Given the description of an element on the screen output the (x, y) to click on. 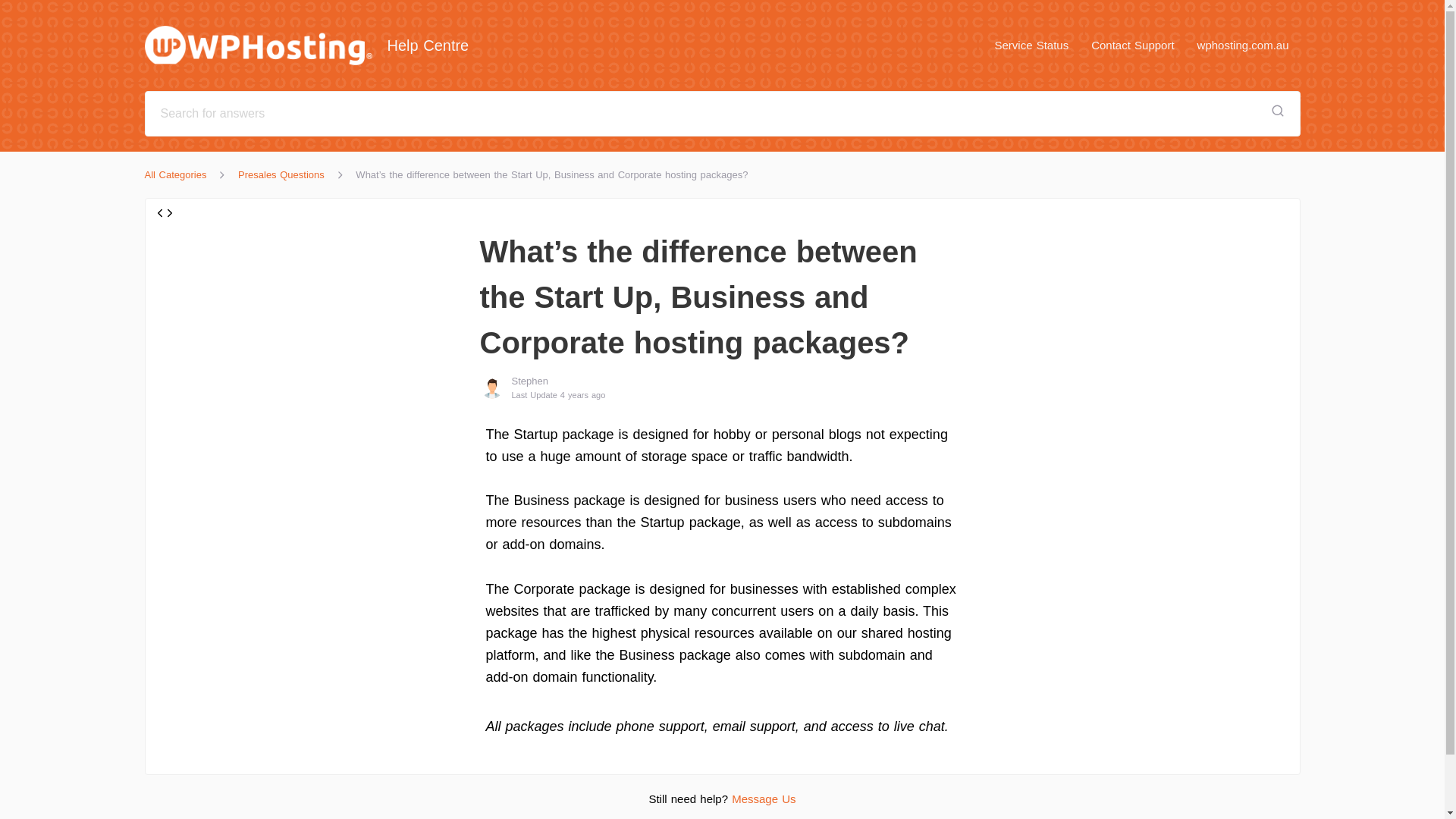
Help Centre (313, 45)
Contact Support (1132, 45)
Service Status (1031, 45)
All Categories (175, 174)
wphosting.com.au (1243, 45)
Message Us (763, 798)
Presales Questions (281, 174)
